Given the description of an element on the screen output the (x, y) to click on. 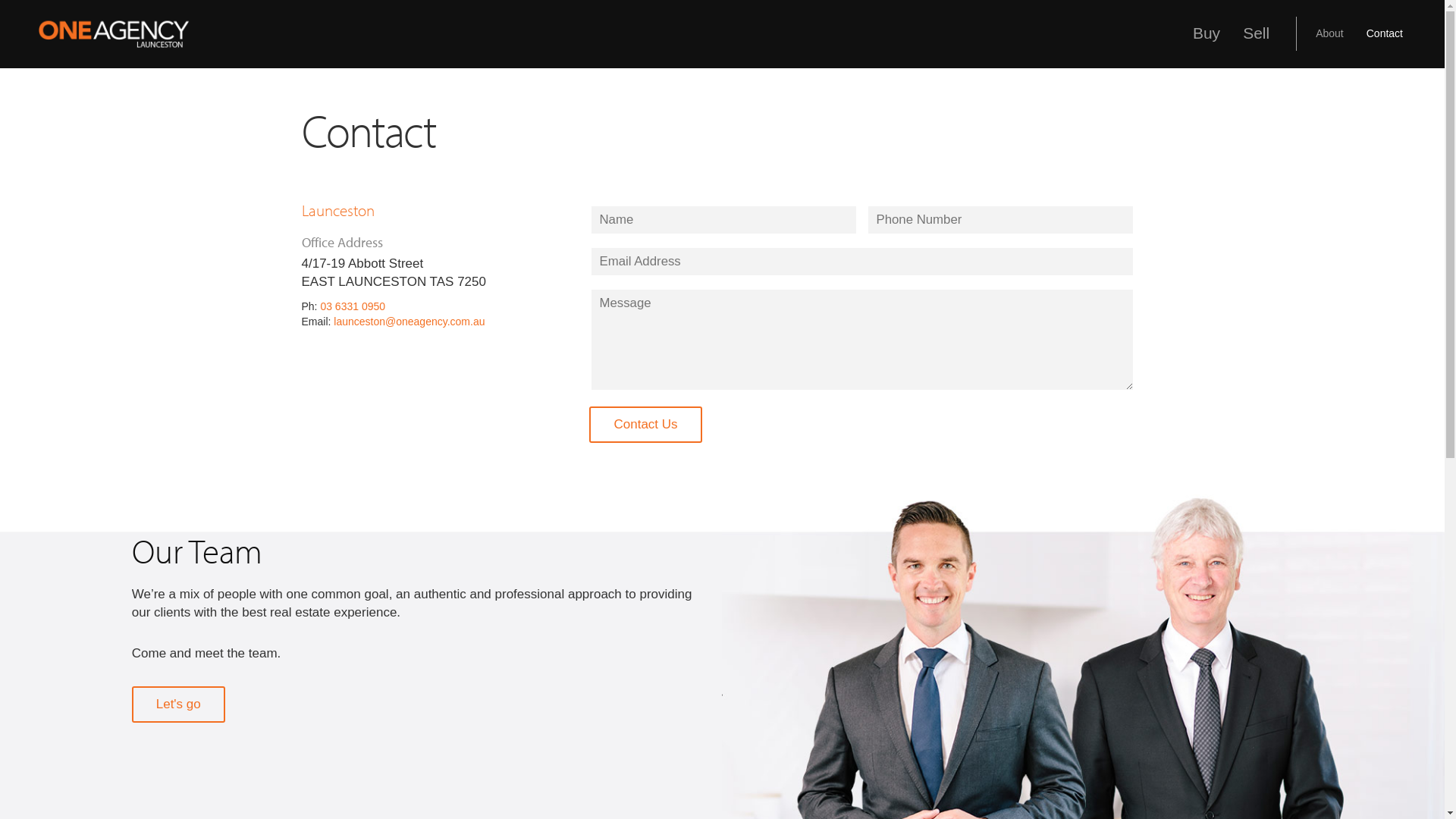
One Agency Launceston Element type: hover (113, 34)
Contact Element type: text (1384, 41)
Buy Element type: text (1206, 40)
Sell Element type: text (1255, 40)
Let's go Element type: text (178, 704)
Message Element type: hover (865, 345)
Name Element type: hover (727, 223)
03 6331 0950 Element type: text (352, 306)
Contact Us Element type: hover (645, 428)
Contact Us Element type: text (645, 424)
launceston@oneagency.com.au Element type: text (408, 321)
search Element type: text (1371, 34)
Phone Number Element type: hover (1004, 223)
About Element type: text (1329, 41)
Email Address Element type: hover (865, 265)
